Given the description of an element on the screen output the (x, y) to click on. 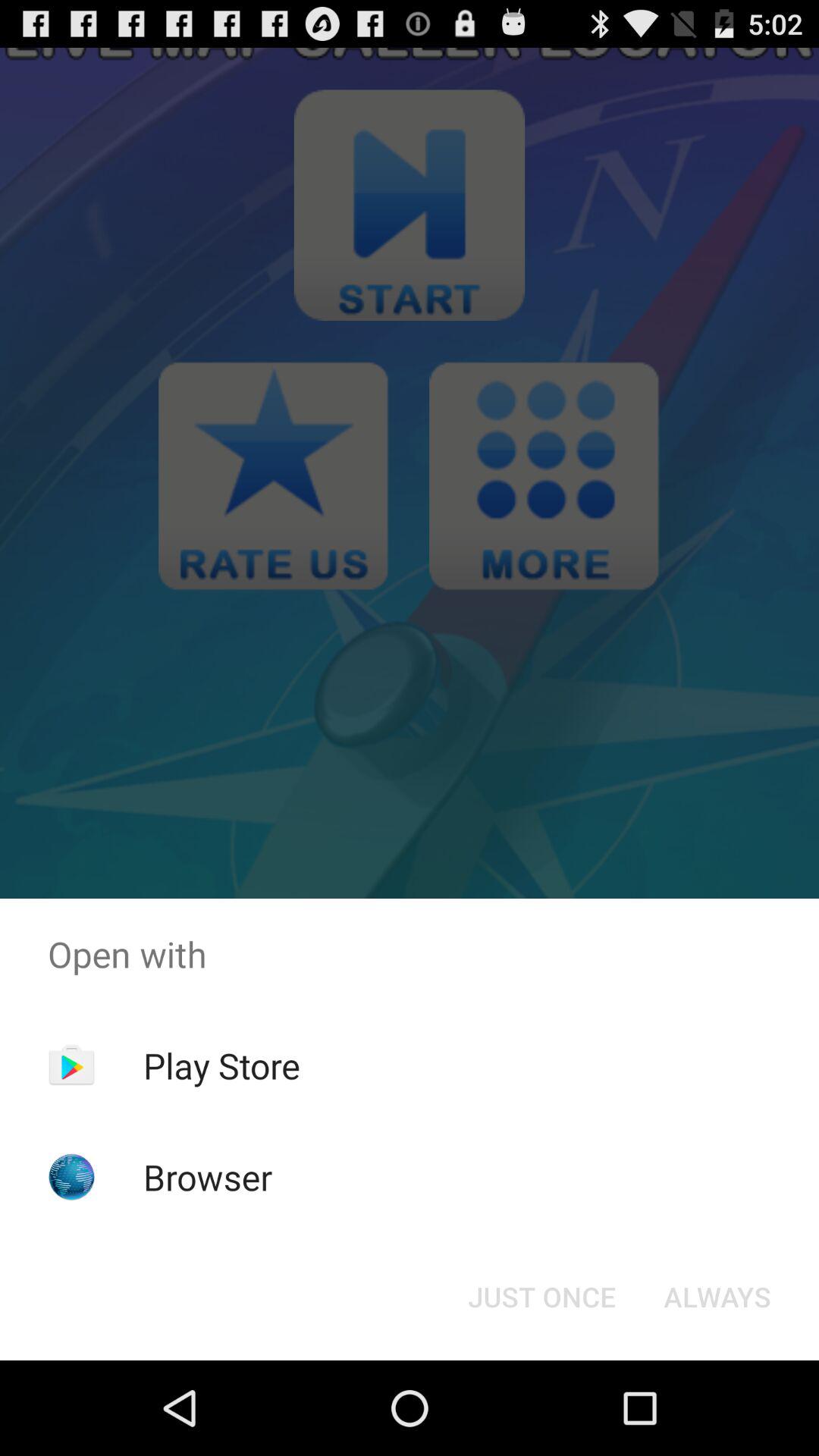
press the always button (717, 1296)
